Given the description of an element on the screen output the (x, y) to click on. 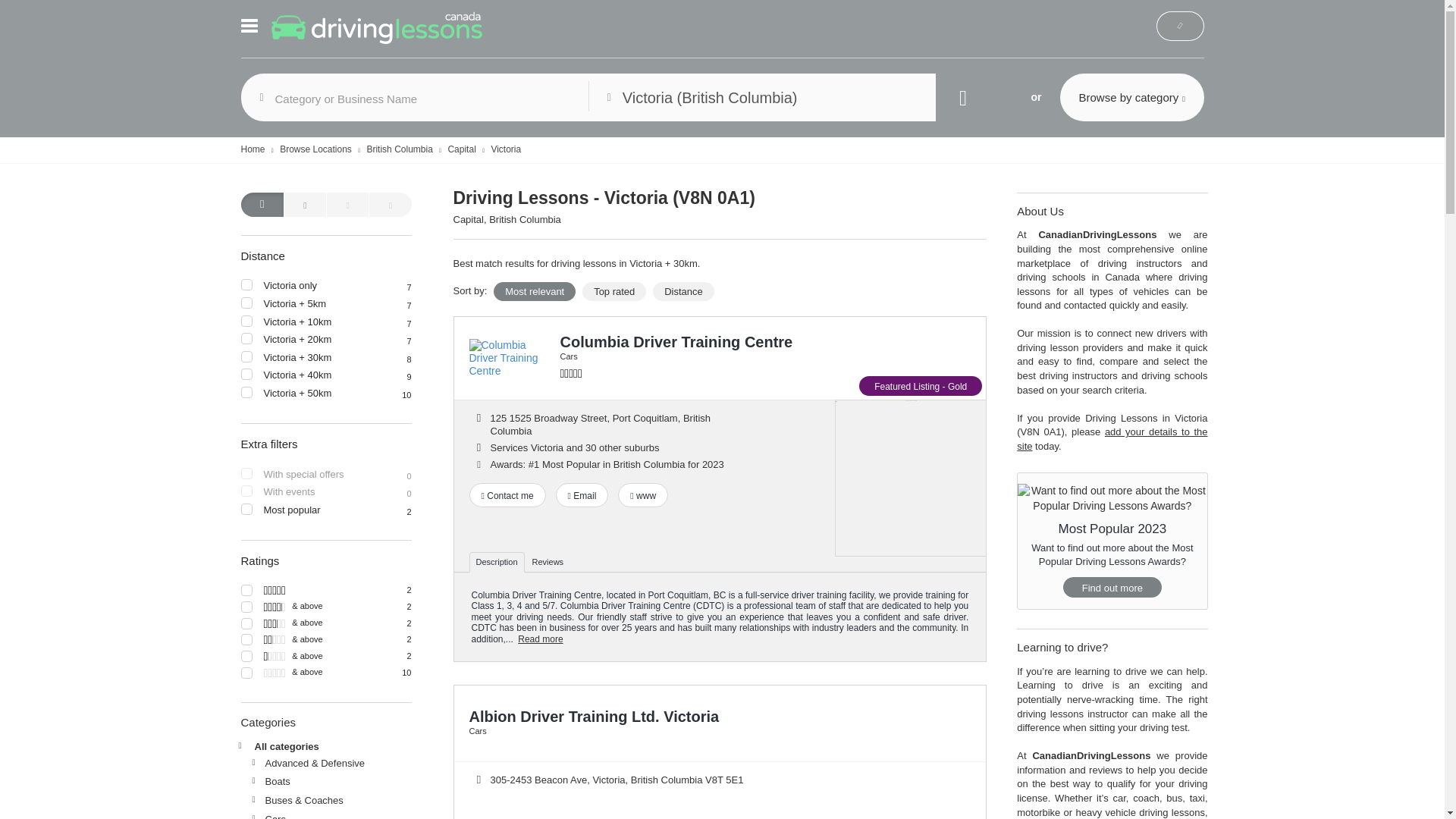
 Email (582, 494)
British Columbia (399, 149)
Distance (683, 291)
125 1525 Broadway Street, Port Coquitlam, British Columbia (599, 424)
 Contact me (506, 494)
 www (642, 494)
Top rated (614, 291)
Columbia Driver Training Centre (675, 341)
Browse by category (1131, 97)
Victoria (505, 149)
